Given the description of an element on the screen output the (x, y) to click on. 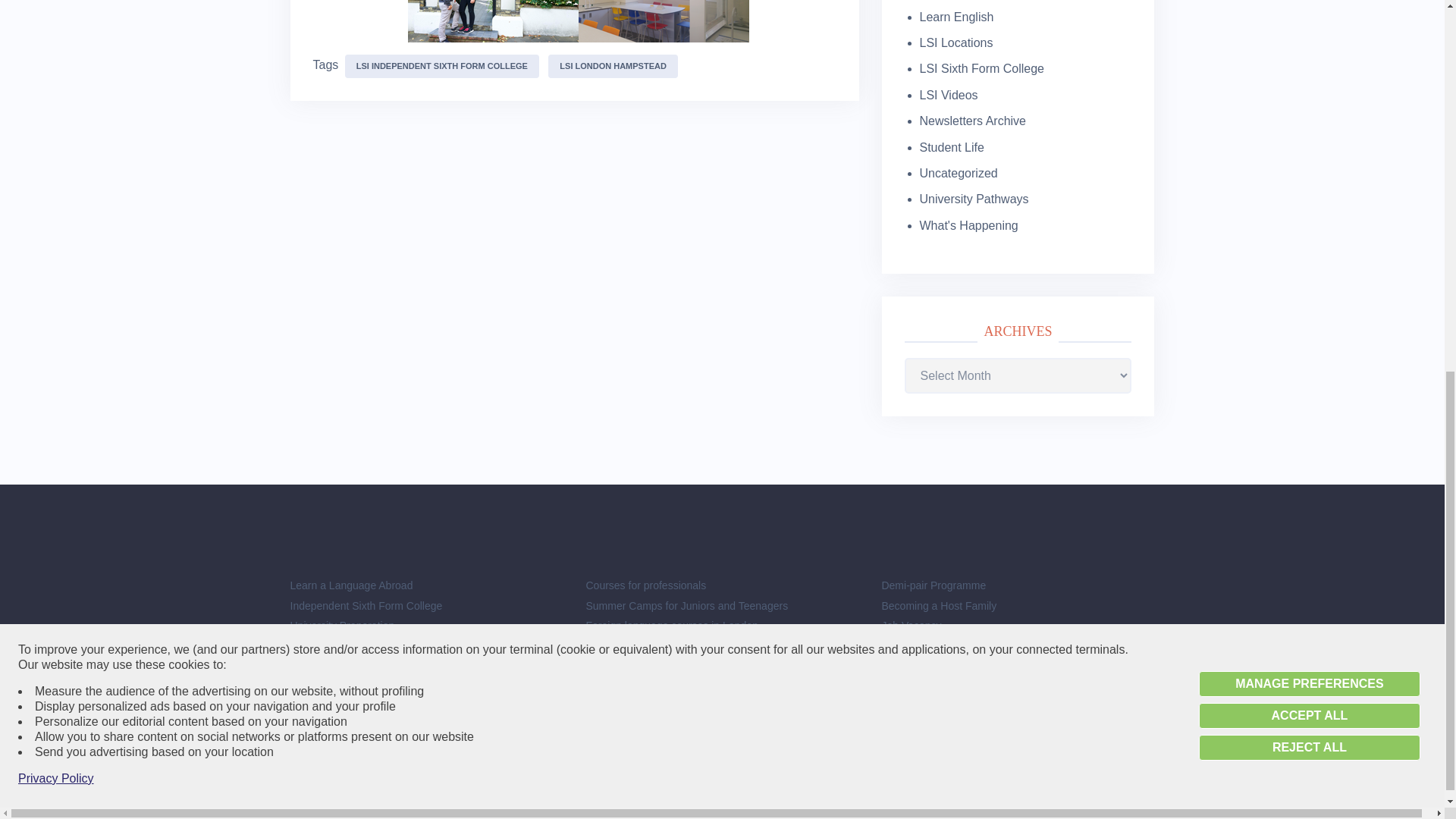
LSI LONDON HAMPSTEAD (613, 65)
ACCEPT ALL (1309, 21)
LSI INDEPENDENT SIXTH FORM COLLEGE (441, 65)
Independent Sixth Form College (365, 605)
Privacy Policy (55, 83)
Learn a Language Abroad (350, 585)
REJECT ALL (1309, 53)
